Given the description of an element on the screen output the (x, y) to click on. 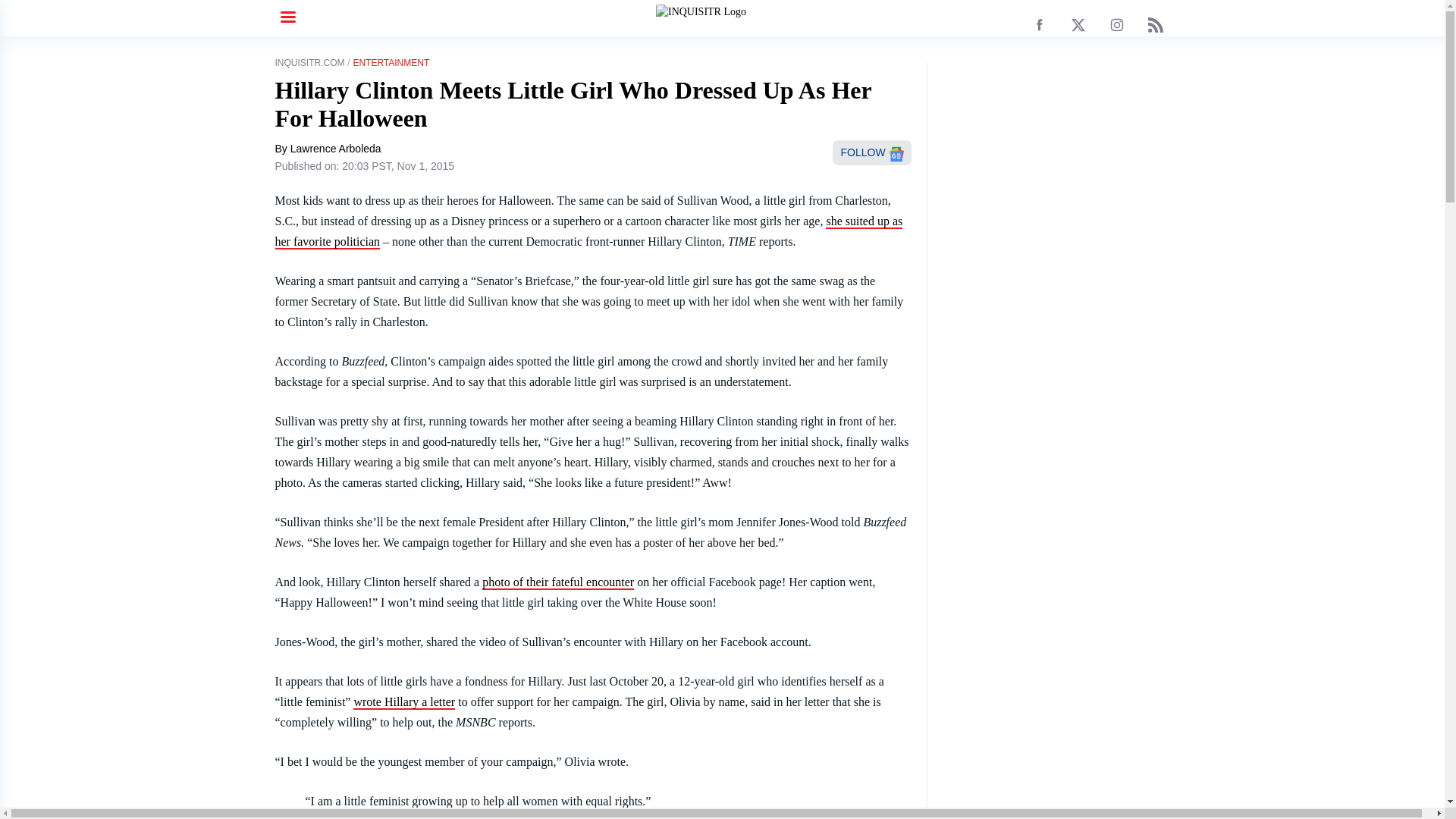
INQUISITR.COM (309, 62)
ENTERTAINMENT (390, 62)
